Given the description of an element on the screen output the (x, y) to click on. 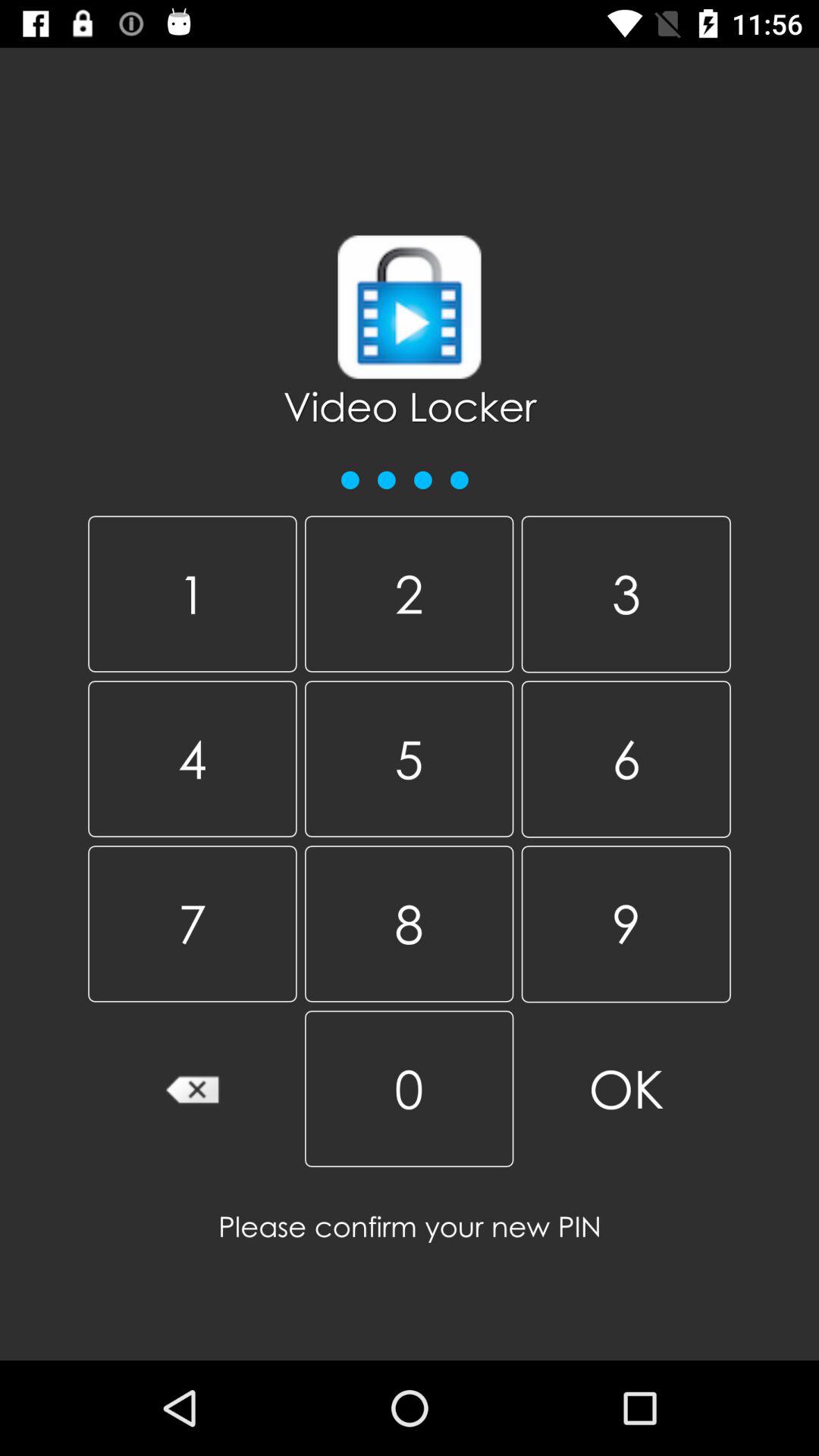
select the 1234 icon (406, 472)
